Given the description of an element on the screen output the (x, y) to click on. 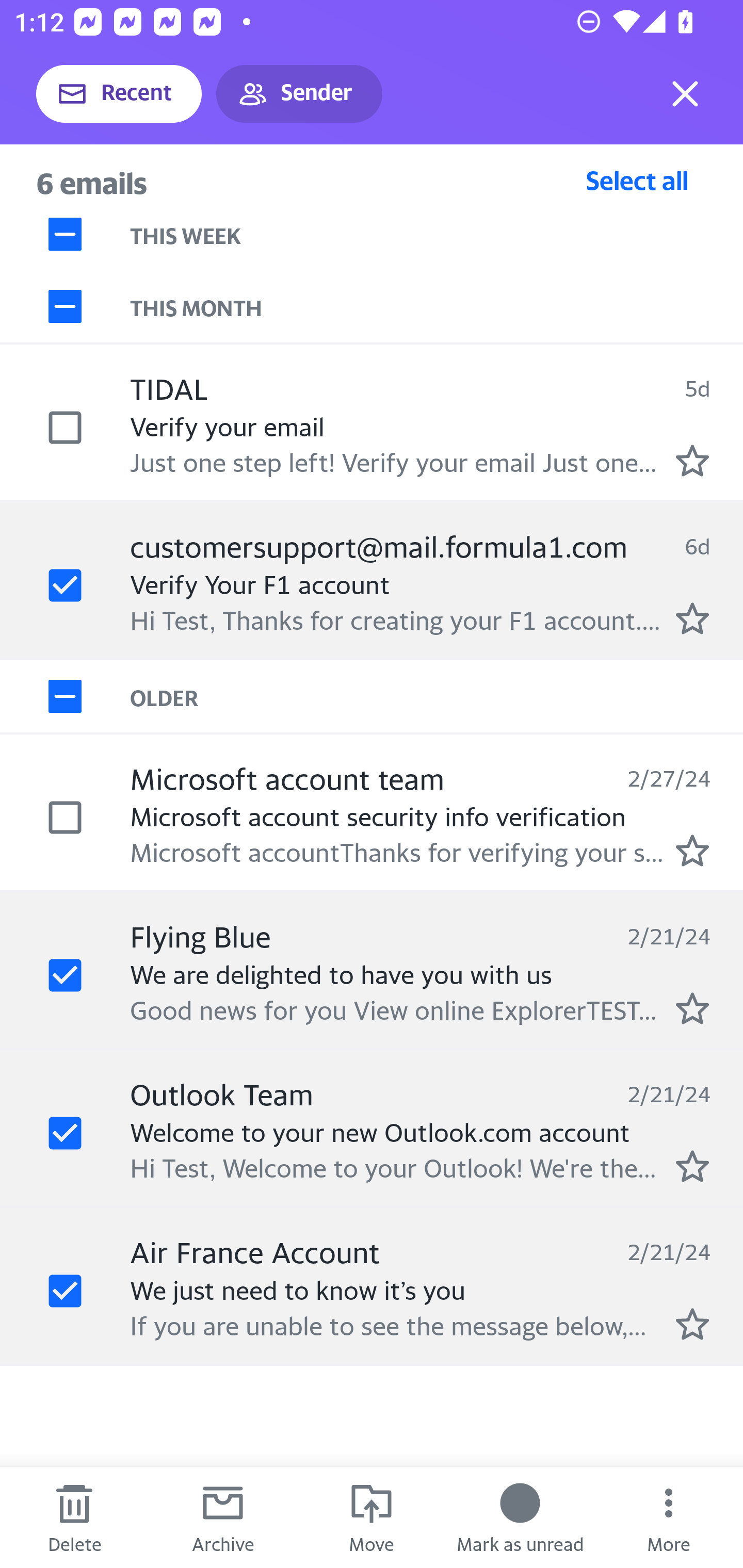
Sender (299, 93)
Exit selection mode (684, 93)
Select all (637, 180)
THIS MONTH (436, 306)
Mark as starred. (692, 460)
Mark as starred. (692, 618)
OLDER (436, 696)
Mark as starred. (692, 850)
Mark as starred. (692, 1008)
Mark as starred. (692, 1165)
Mark as starred. (692, 1324)
Delete (74, 1517)
Archive (222, 1517)
Move (371, 1517)
Mark as unread (519, 1517)
More (668, 1517)
